Given the description of an element on the screen output the (x, y) to click on. 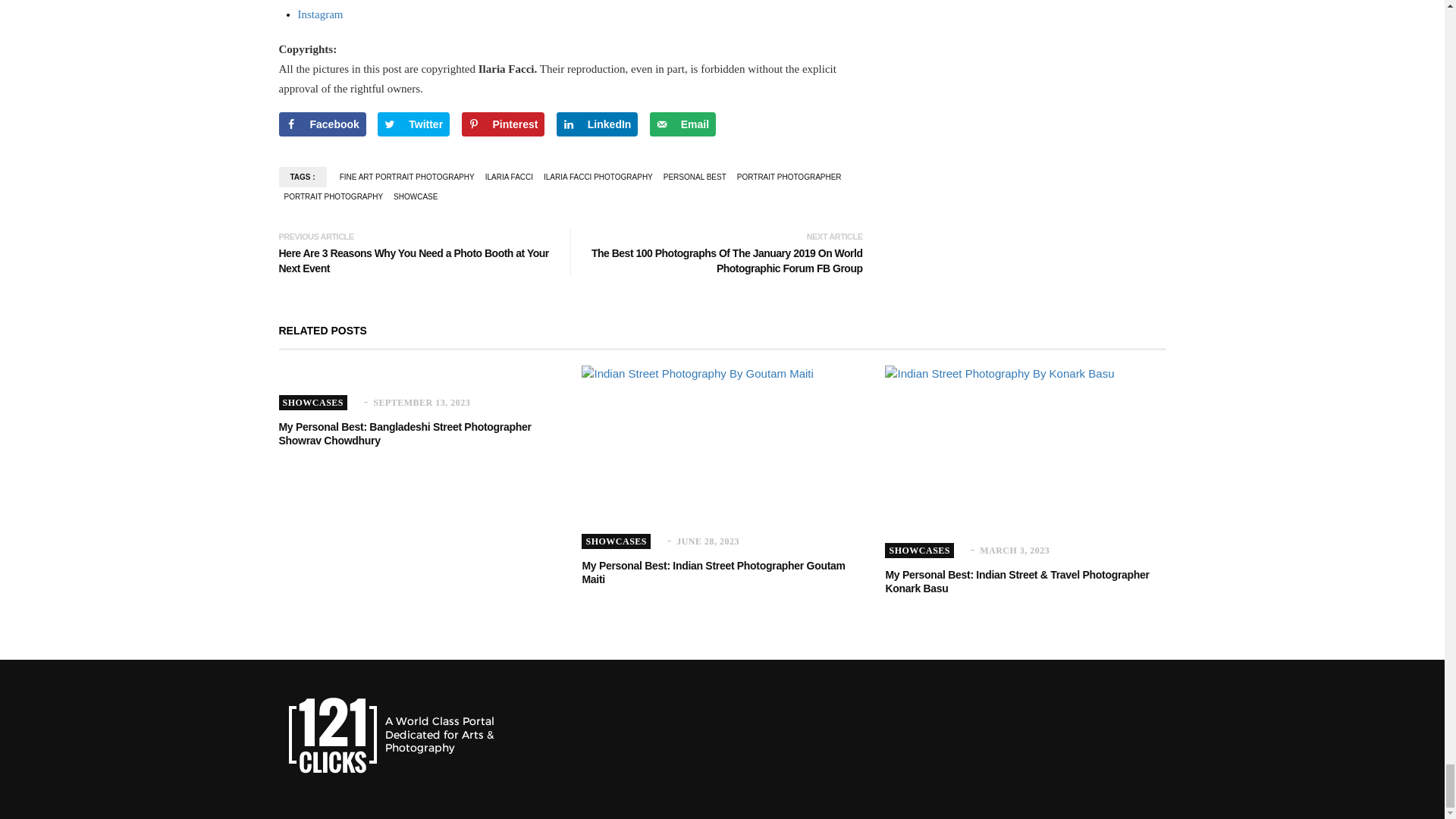
Share on LinkedIn (597, 124)
Share on Facebook (322, 124)
My Personal Best: Indian Street Photographer Goutam Maiti (712, 572)
Share on Twitter (413, 124)
Send over email (682, 124)
Save to Pinterest (502, 124)
